Given the description of an element on the screen output the (x, y) to click on. 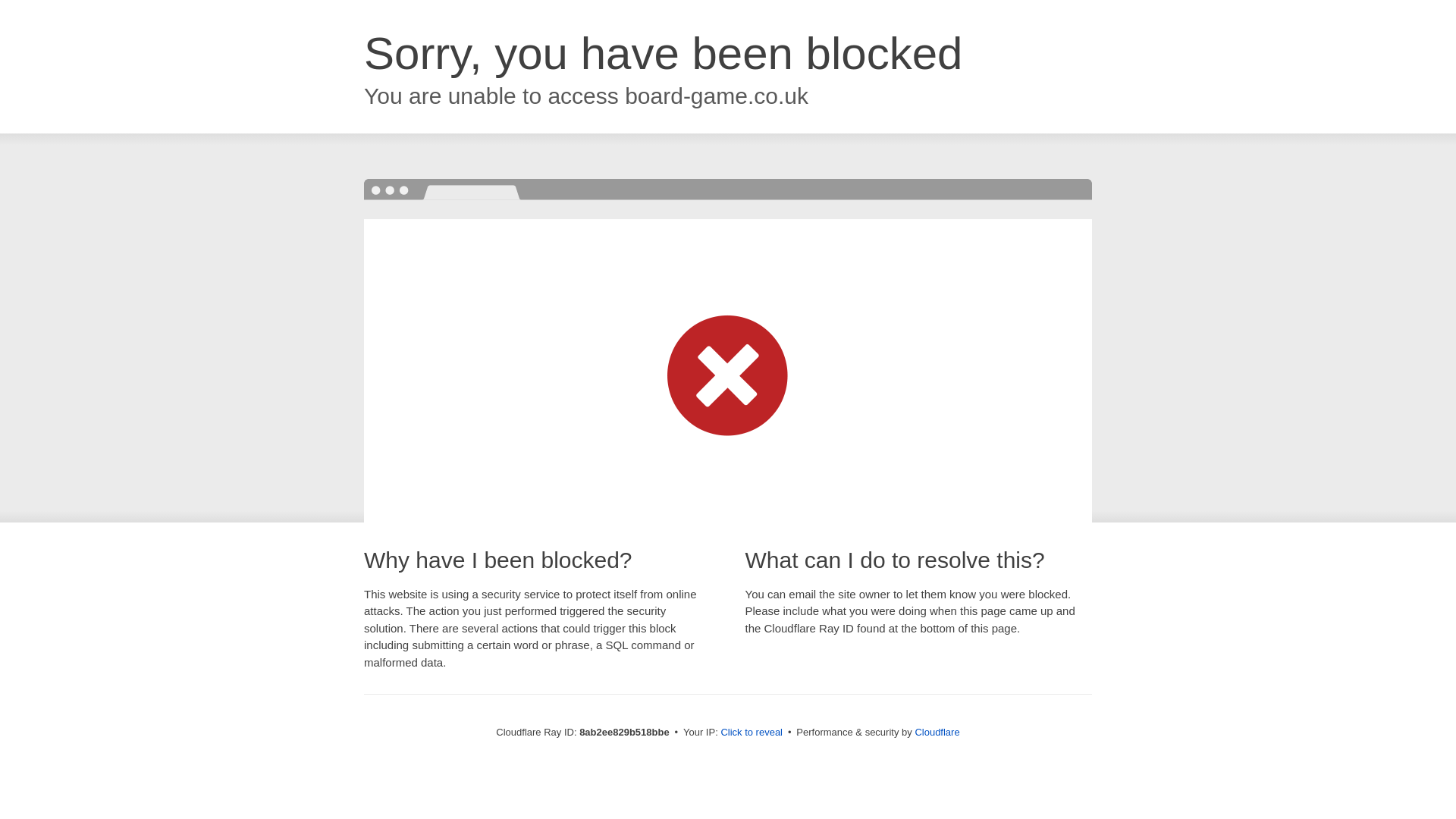
Cloudflare (936, 731)
Click to reveal (751, 732)
